Given the description of an element on the screen output the (x, y) to click on. 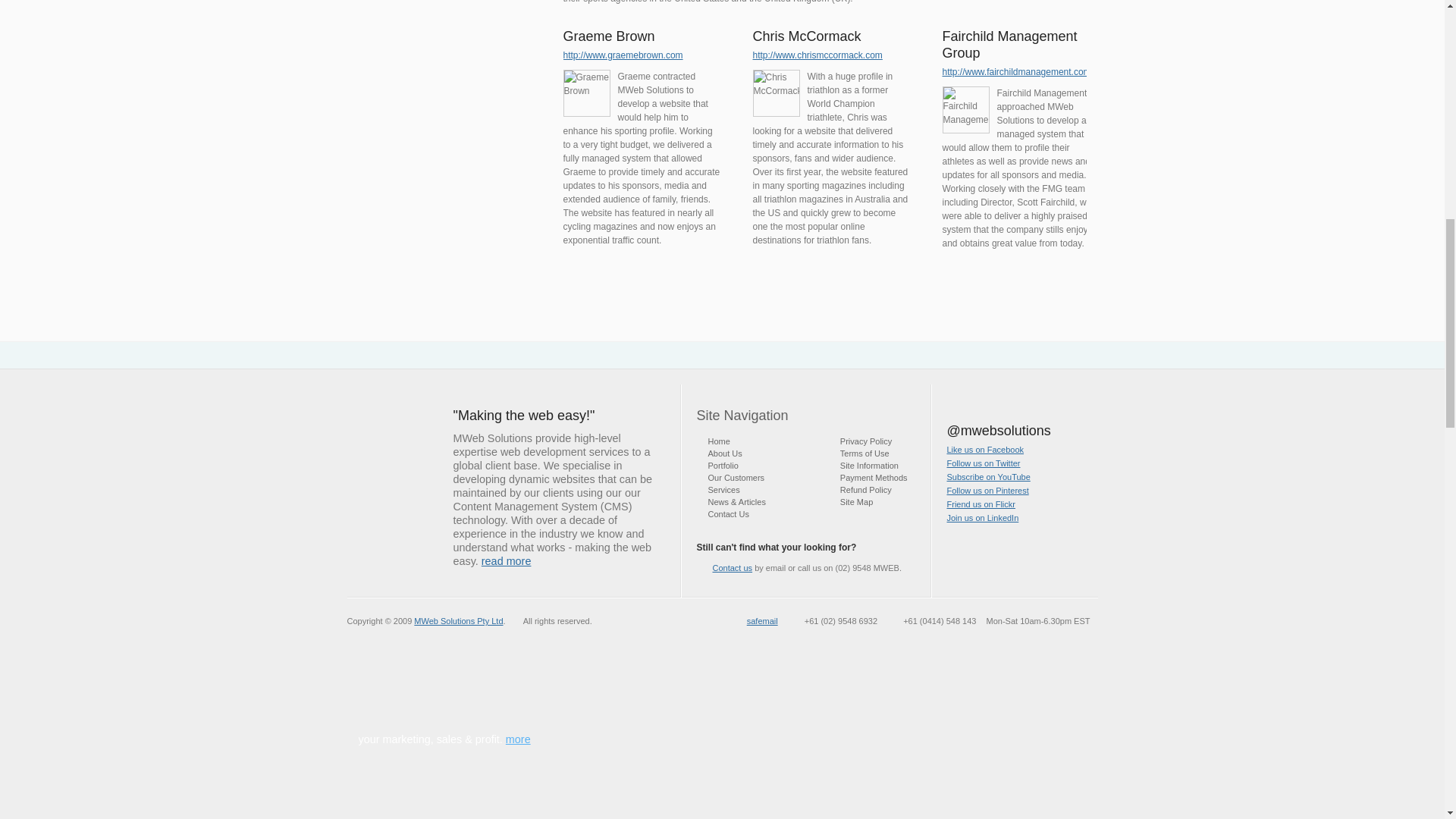
Google Analytics (955, 327)
Price info (1003, 368)
more (531, 4)
more (521, 739)
more (569, 375)
